Given the description of an element on the screen output the (x, y) to click on. 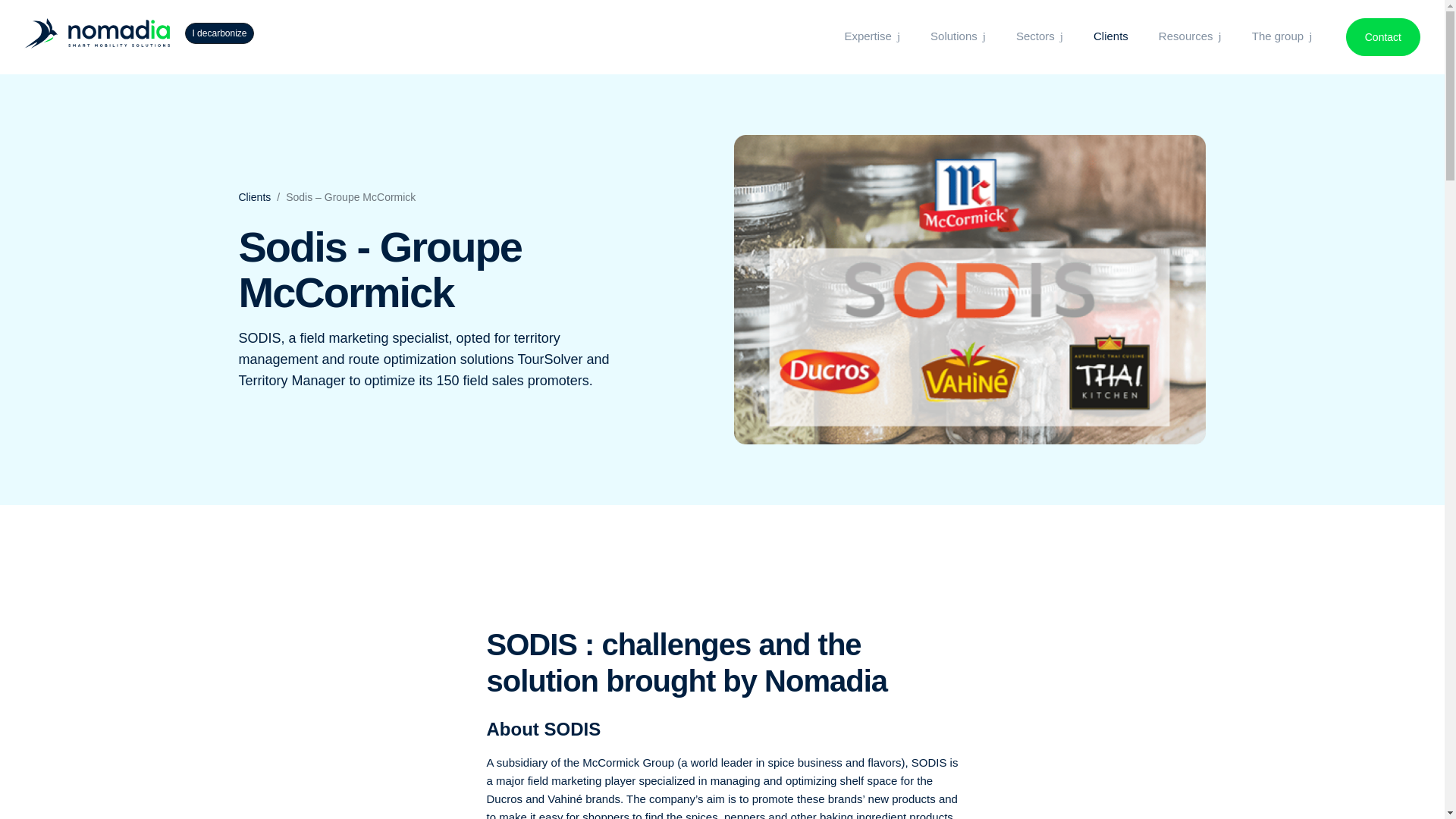
Solutions (957, 36)
Clients (1110, 36)
I decarbonize (218, 33)
Sectors (1039, 36)
Back to homepage (98, 31)
Expertise (871, 36)
Resources (1189, 36)
